Given the description of an element on the screen output the (x, y) to click on. 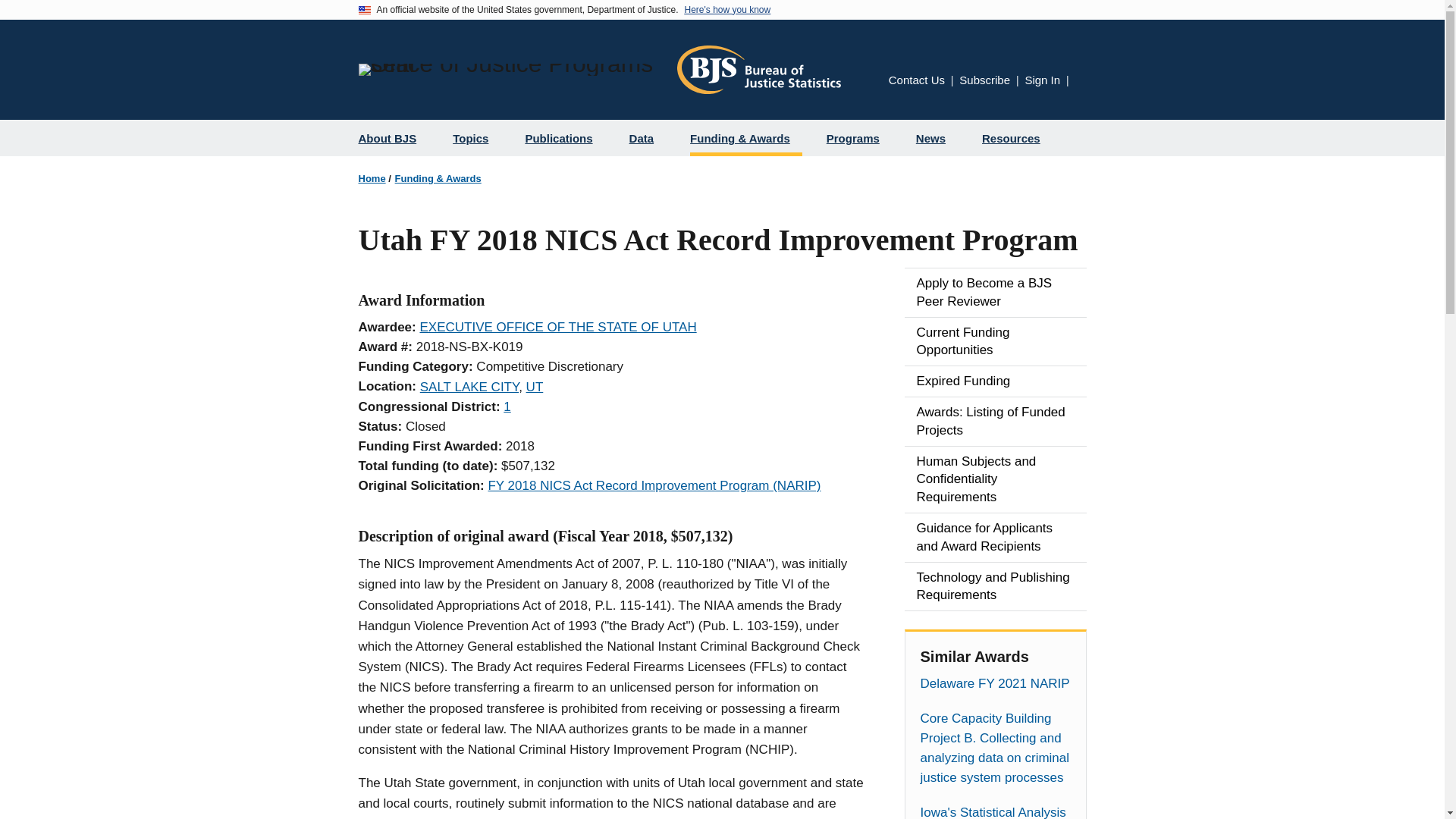
Home (371, 178)
1 (507, 406)
UT (534, 386)
Programs (858, 138)
Sign In (1042, 79)
Choose a social sharing platform (1080, 81)
Technology and Publishing Requirements (995, 586)
Office of Justice Programs (510, 69)
News (936, 138)
Home (759, 69)
Topics (476, 138)
EXECUTIVE OFFICE OF THE STATE OF UTAH (557, 327)
Data (647, 138)
Guidance for Applicants and Award Recipients (995, 537)
